Given the description of an element on the screen output the (x, y) to click on. 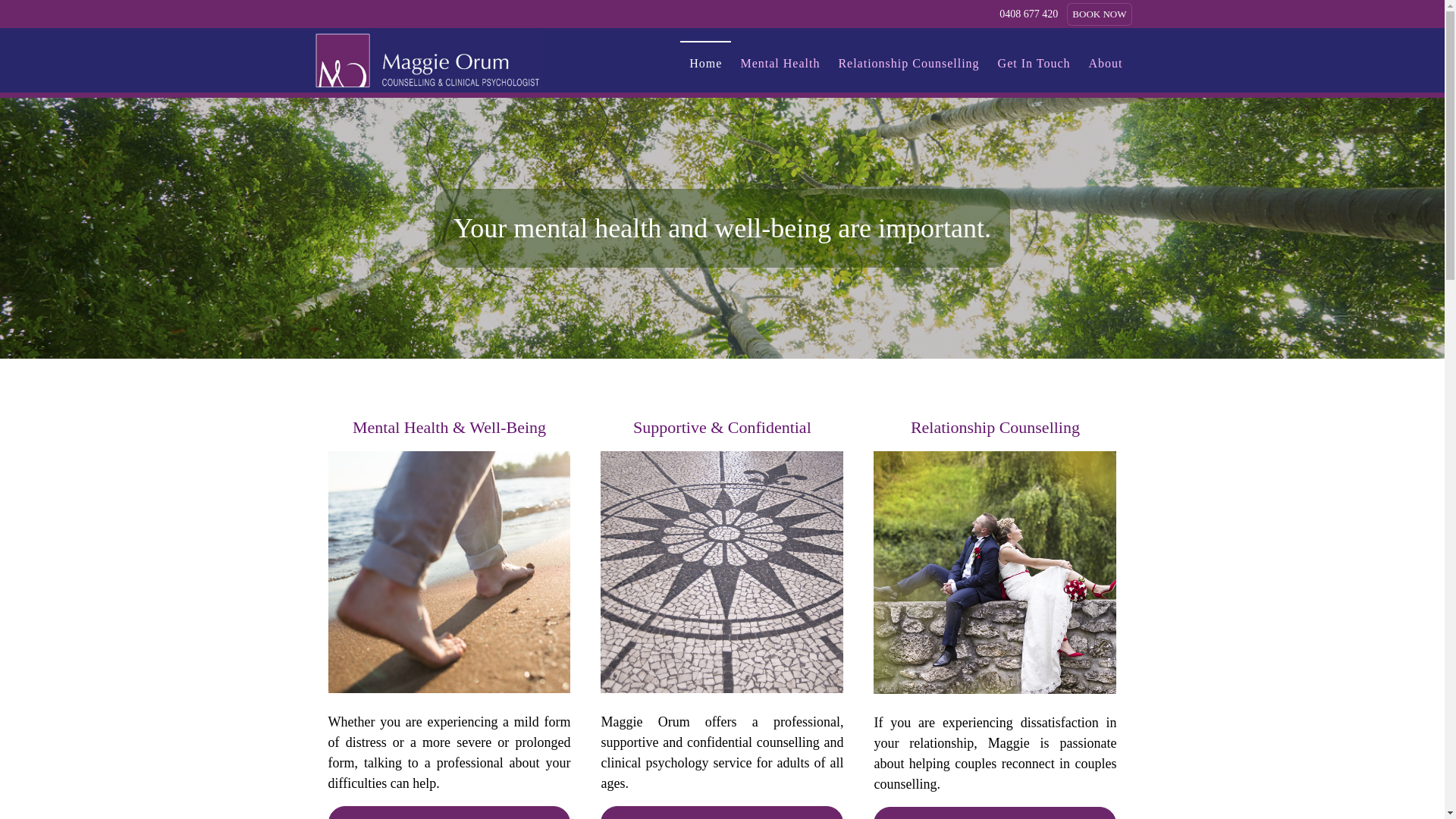
0408 677 420 Element type: text (1028, 13)
BOOK NOW Element type: text (1098, 14)
Mental Health Element type: text (779, 59)
Get In Touch Element type: text (1033, 59)
Home Element type: text (705, 59)
About Element type: text (1105, 59)
Relationship Counselling Element type: text (908, 59)
